Given the description of an element on the screen output the (x, y) to click on. 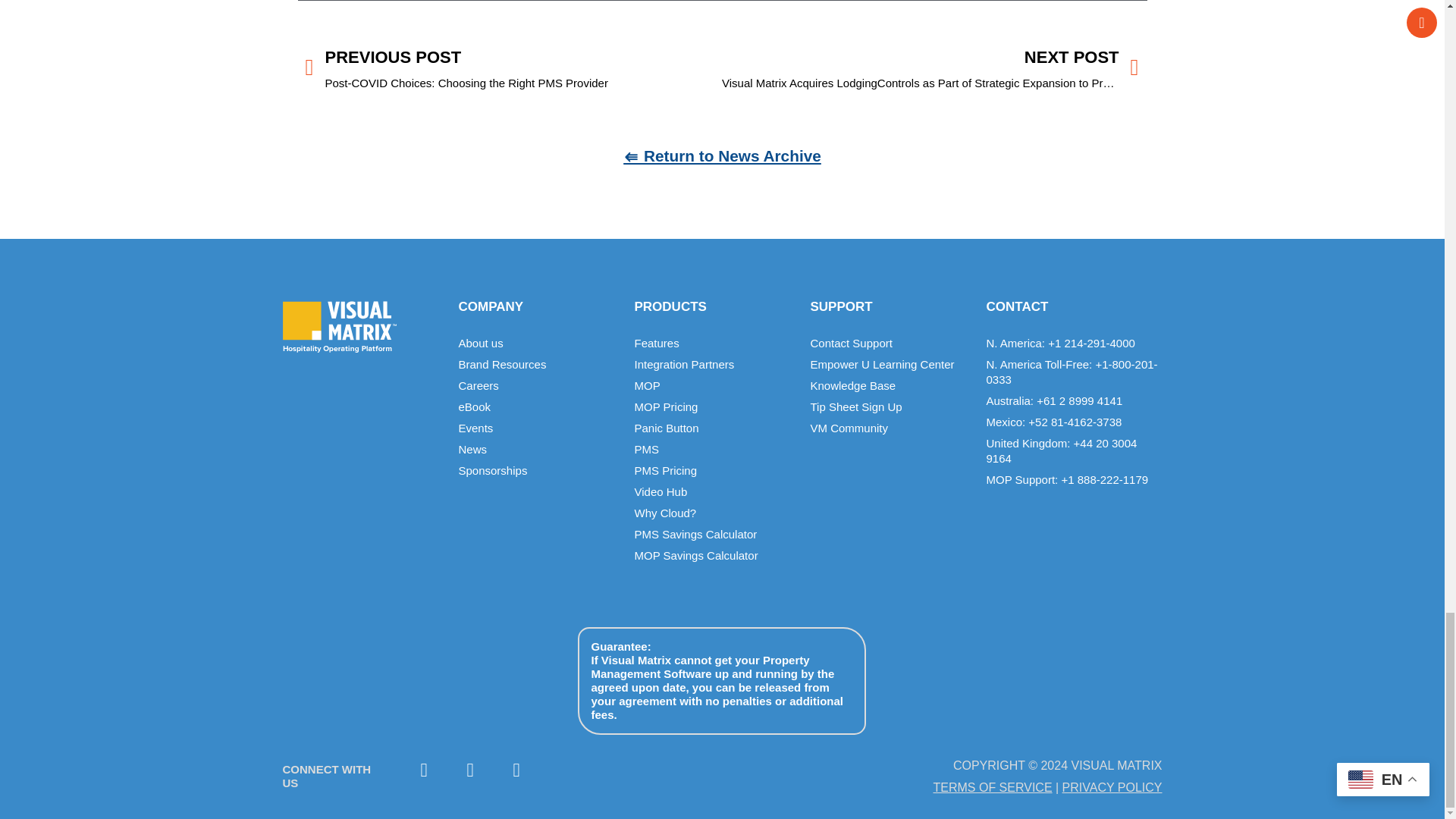
PMS Pricing (713, 470)
MOP (713, 385)
About us (538, 343)
vm-logo-tm-rev2 - Visual Matrix (339, 326)
Panic Button (713, 427)
Features (713, 343)
Video Hub (713, 491)
News (538, 449)
eBook (538, 406)
MOP Pricing (713, 406)
PMS (713, 449)
Brand Resources (538, 364)
Careers (538, 385)
